Given the description of an element on the screen output the (x, y) to click on. 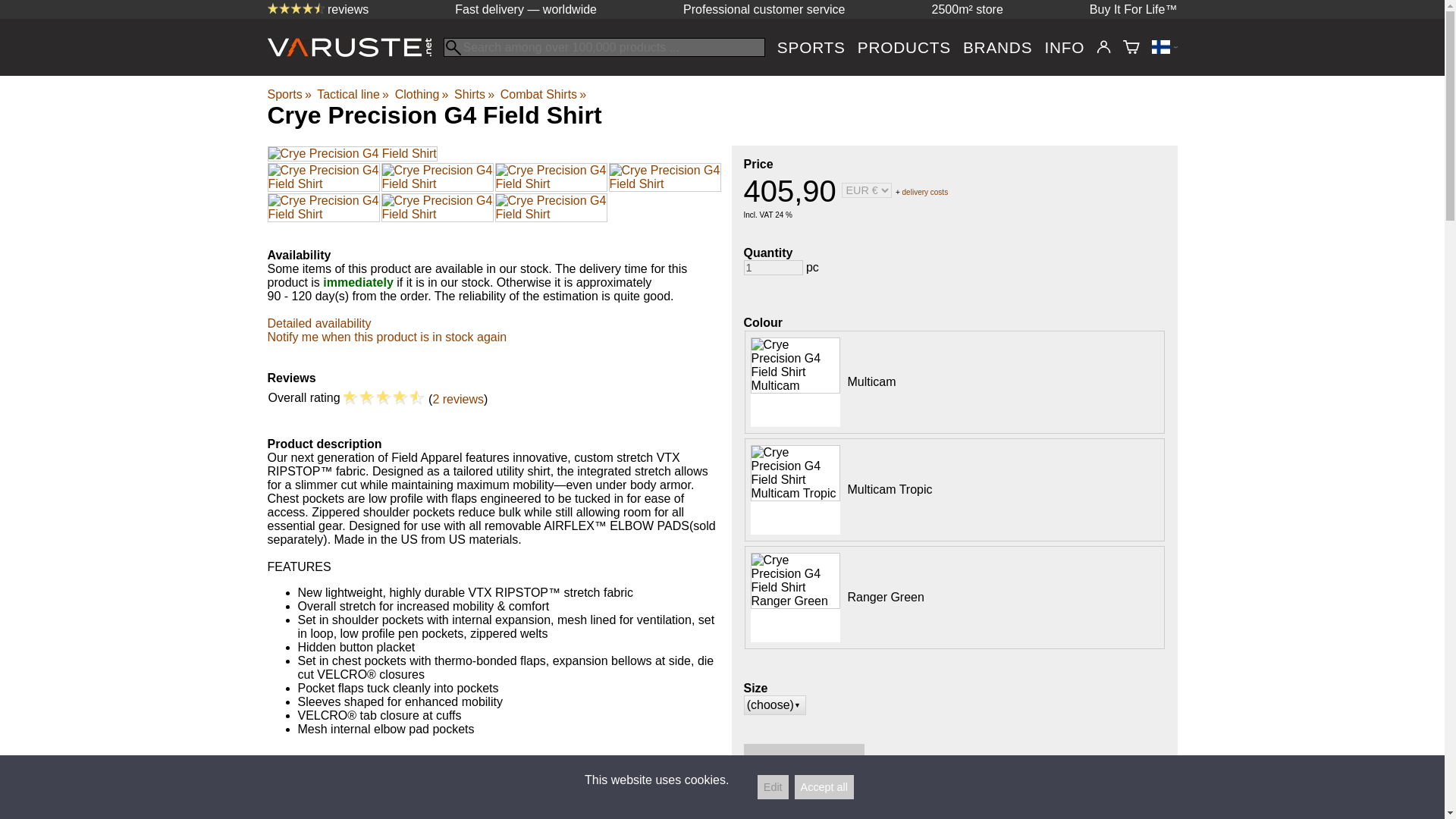
INFO (1063, 46)
Finland (1163, 46)
Notify me when this product is in stock again (386, 336)
SPORTS (811, 46)
1 (772, 267)
PRODUCTS (903, 46)
2 reviews (457, 399)
 reviews (317, 9)
Add to shopping cart (803, 760)
Home (354, 51)
Shopping cart (1131, 46)
Add to shopping cart (803, 760)
delivery costs (925, 191)
Detailed availability (318, 323)
BRANDS (997, 46)
